Given the description of an element on the screen output the (x, y) to click on. 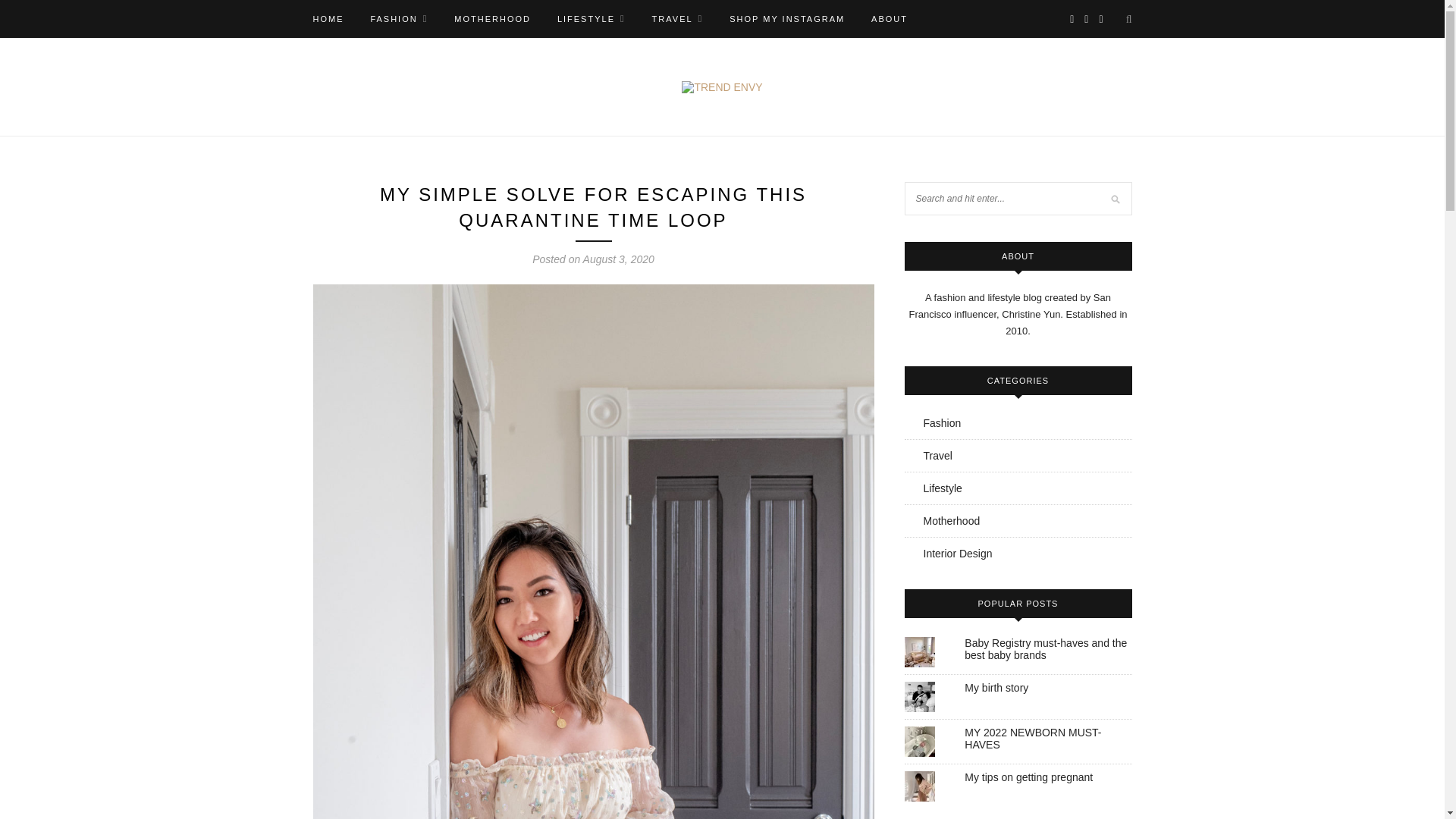
MY 2022 NEWBORN MUST-HAVES (1031, 738)
TRAVEL (677, 18)
SHOP MY INSTAGRAM (786, 18)
MOTHERHOOD (492, 18)
FASHION (398, 18)
My tips on getting pregnant (1028, 776)
My birth story (995, 687)
LIFESTYLE (591, 18)
Baby Registry must-haves and the best baby brands (1044, 648)
ABOUT (888, 18)
